Given the description of an element on the screen output the (x, y) to click on. 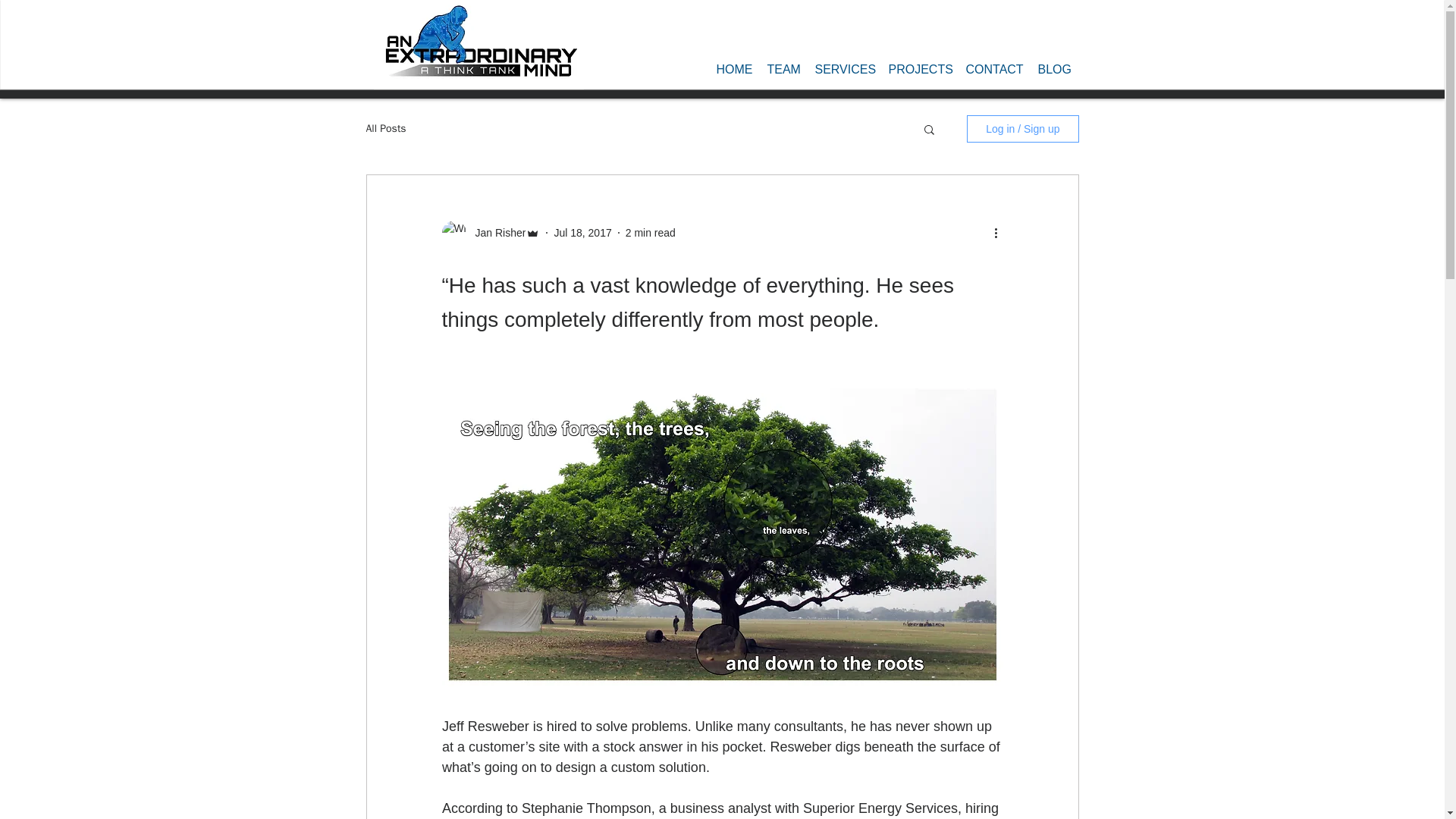
All Posts (385, 128)
SERVICES (843, 68)
CONTACT (994, 68)
Jul 18, 2017 (582, 232)
TEAM (784, 68)
PROJECTS (919, 68)
HOME (732, 68)
BLOG (1053, 68)
Jan Risher (495, 232)
2 min read (650, 232)
